Given the description of an element on the screen output the (x, y) to click on. 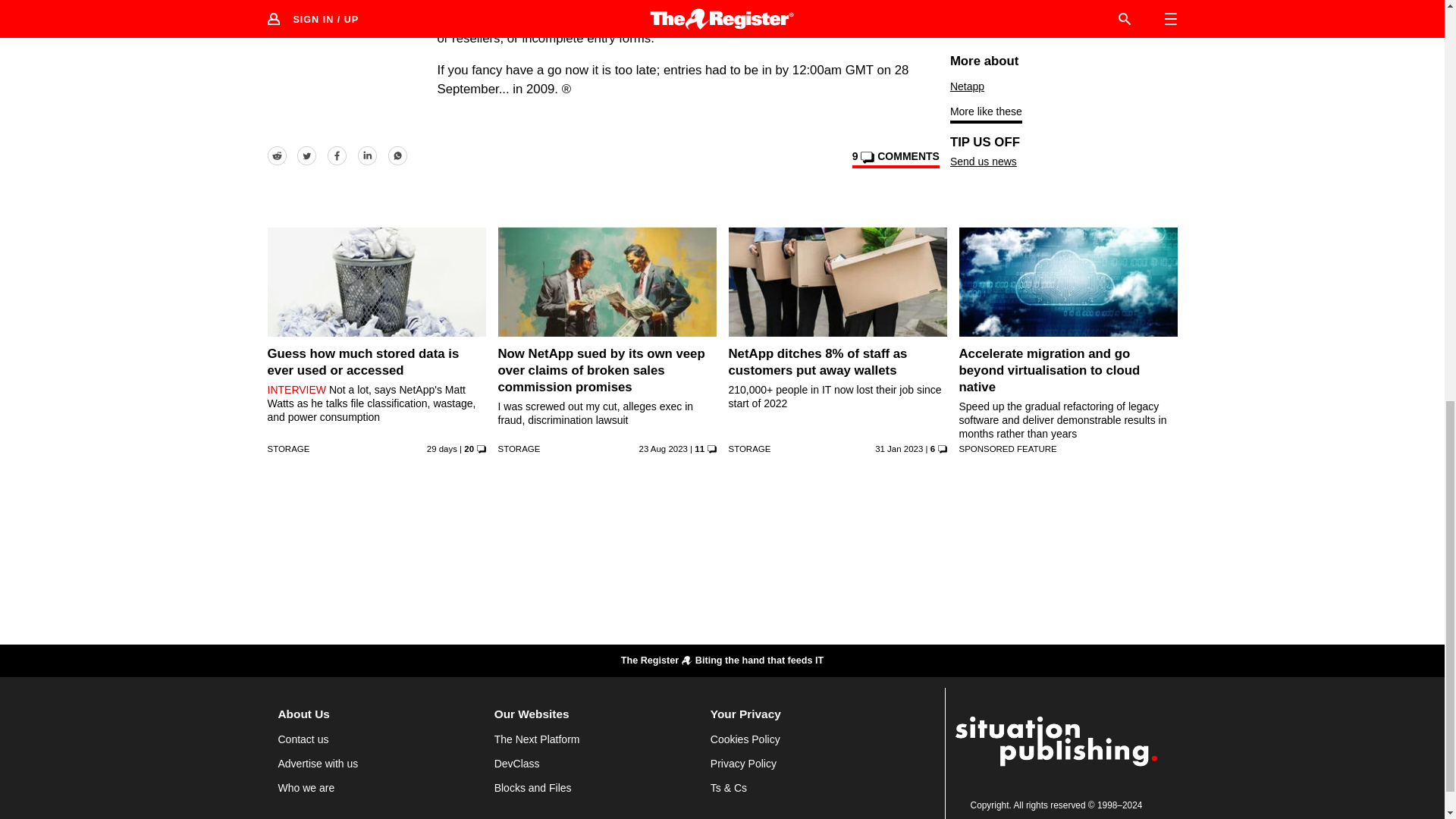
View comments on this article (895, 158)
23 Aug 2023 20:48 (663, 448)
21 Jun 2024 10:26 (441, 448)
31 Jan 2023 15:15 (899, 448)
